Given the description of an element on the screen output the (x, y) to click on. 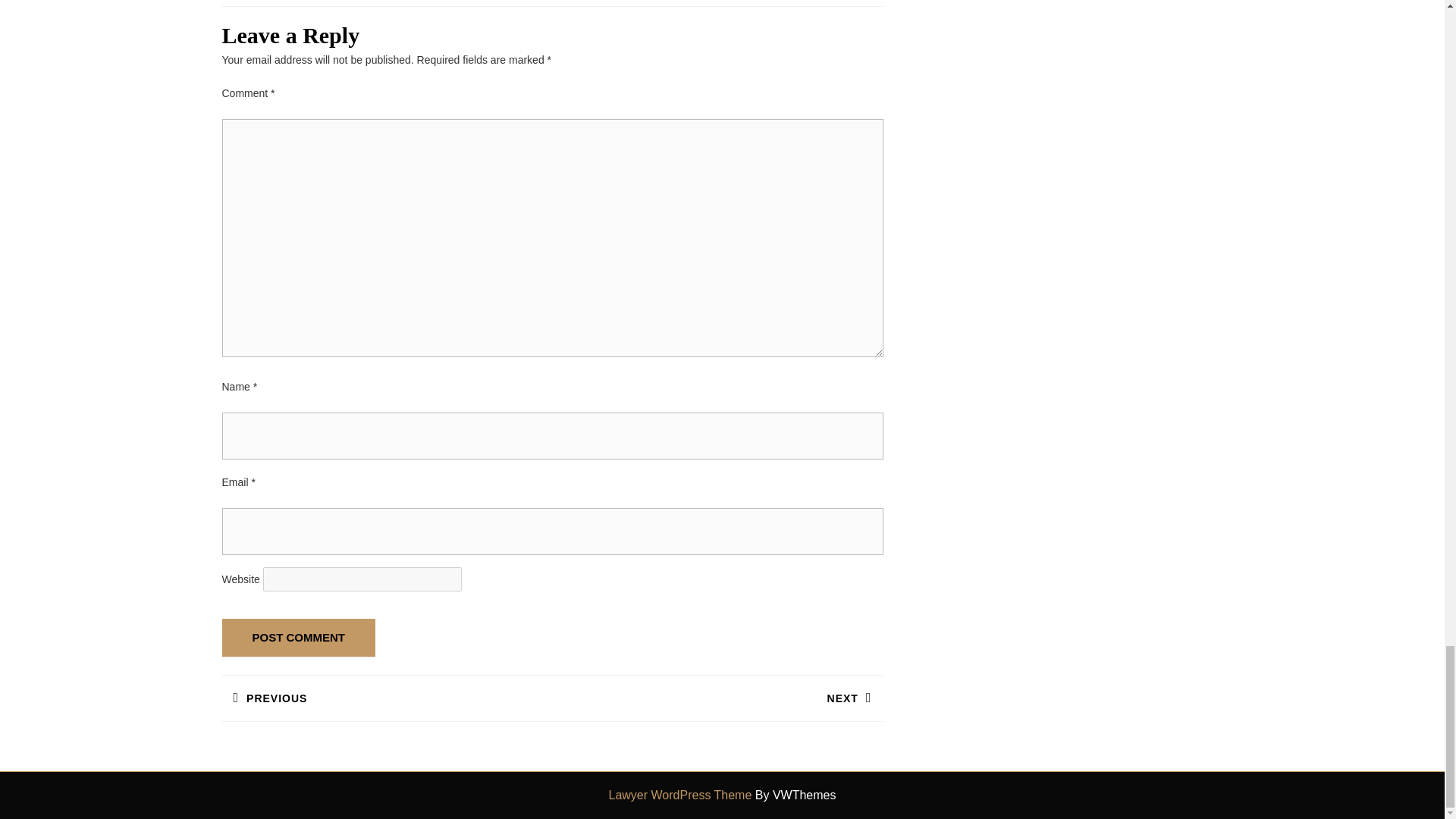
Post Comment (298, 637)
Post Comment (298, 637)
Lawyer WordPress Theme (716, 697)
